Given the description of an element on the screen output the (x, y) to click on. 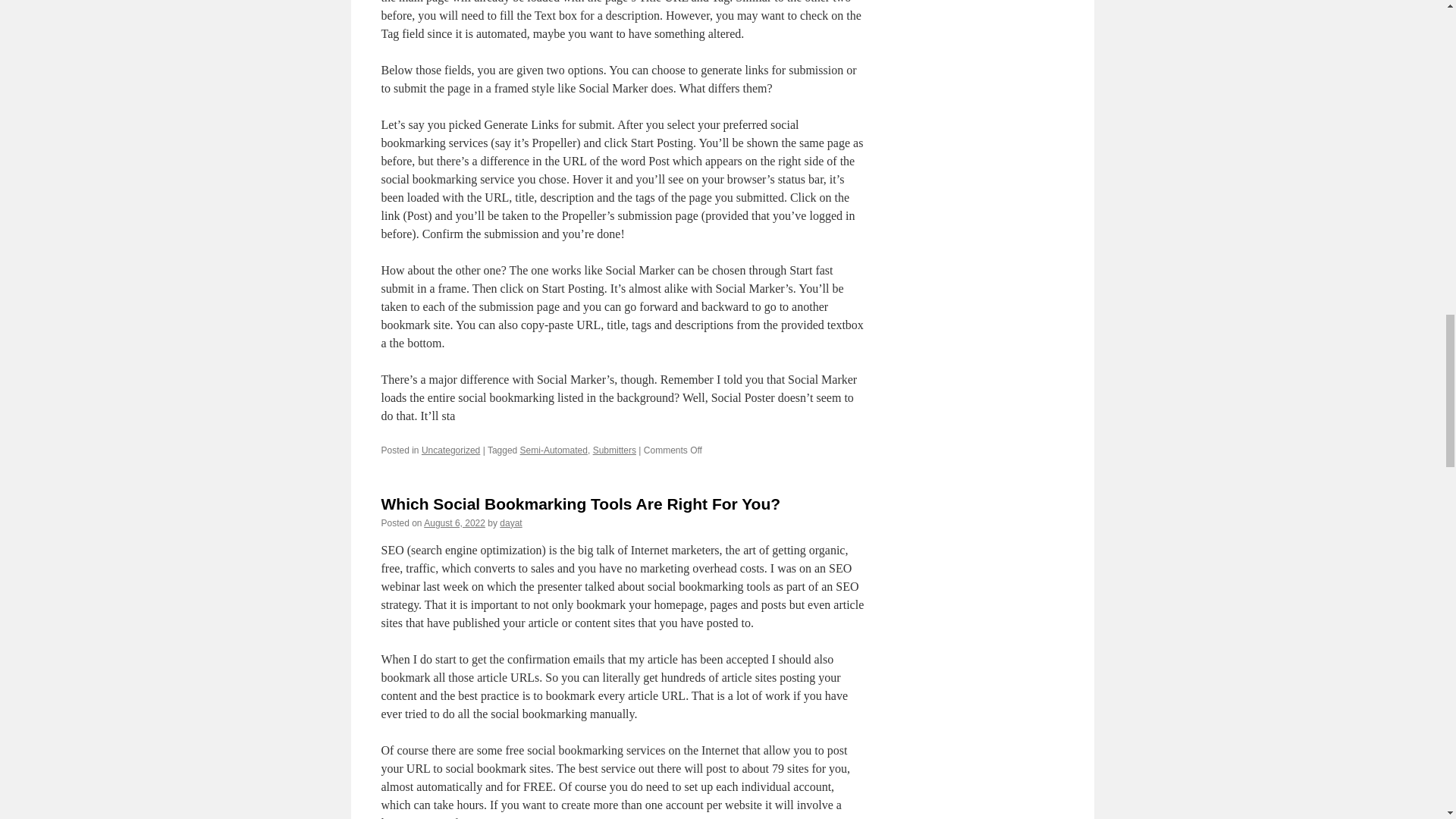
Semi-Automated (553, 450)
dayat (510, 522)
5:40 pm (453, 522)
Which Social Bookmarking Tools Are Right For You? (580, 503)
Submitters (614, 450)
August 6, 2022 (453, 522)
View all posts by dayat (510, 522)
Uncategorized (451, 450)
View all posts in Uncategorized (451, 450)
